Given the description of an element on the screen output the (x, y) to click on. 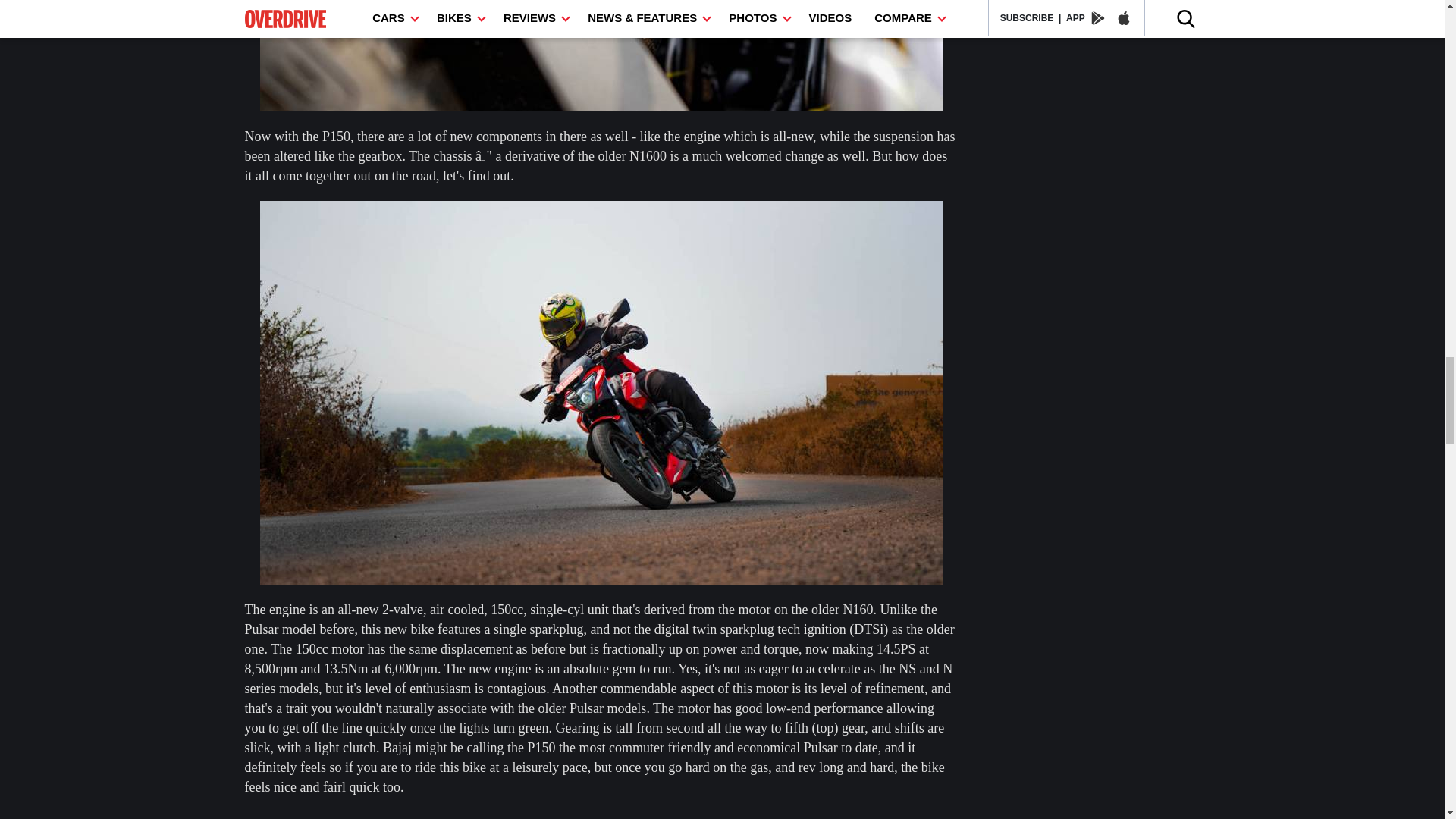
Bajaj Pulsar P150 first ride review: A star, reborn (600, 55)
